Given the description of an element on the screen output the (x, y) to click on. 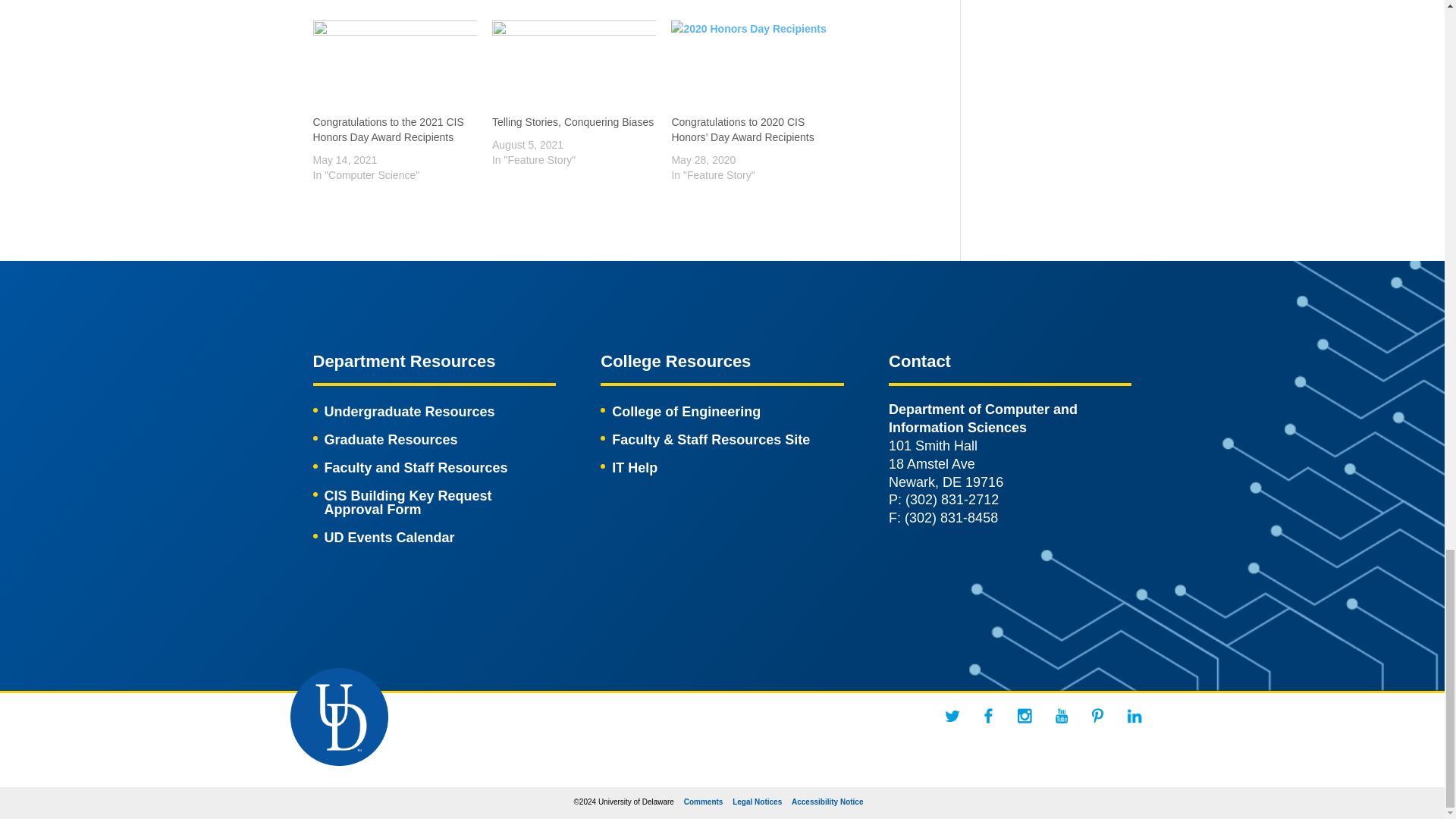
Instagram (1024, 715)
Pinterest (1098, 715)
Linkedin (1133, 715)
Pinterest (1097, 715)
Congratulations to the 2021 CIS Honors Day Award Recipients (394, 67)
Twitter (951, 715)
Twitter (952, 715)
Facebook (989, 715)
Telling Stories, Conquering Biases (574, 67)
Congratulations to the 2021 CIS Honors Day Award Recipients (388, 129)
Instagram (1025, 715)
Linkedin (1134, 715)
Youtube (1061, 715)
Telling Stories, Conquering Biases (572, 121)
Youtube (1061, 715)
